Given the description of an element on the screen output the (x, y) to click on. 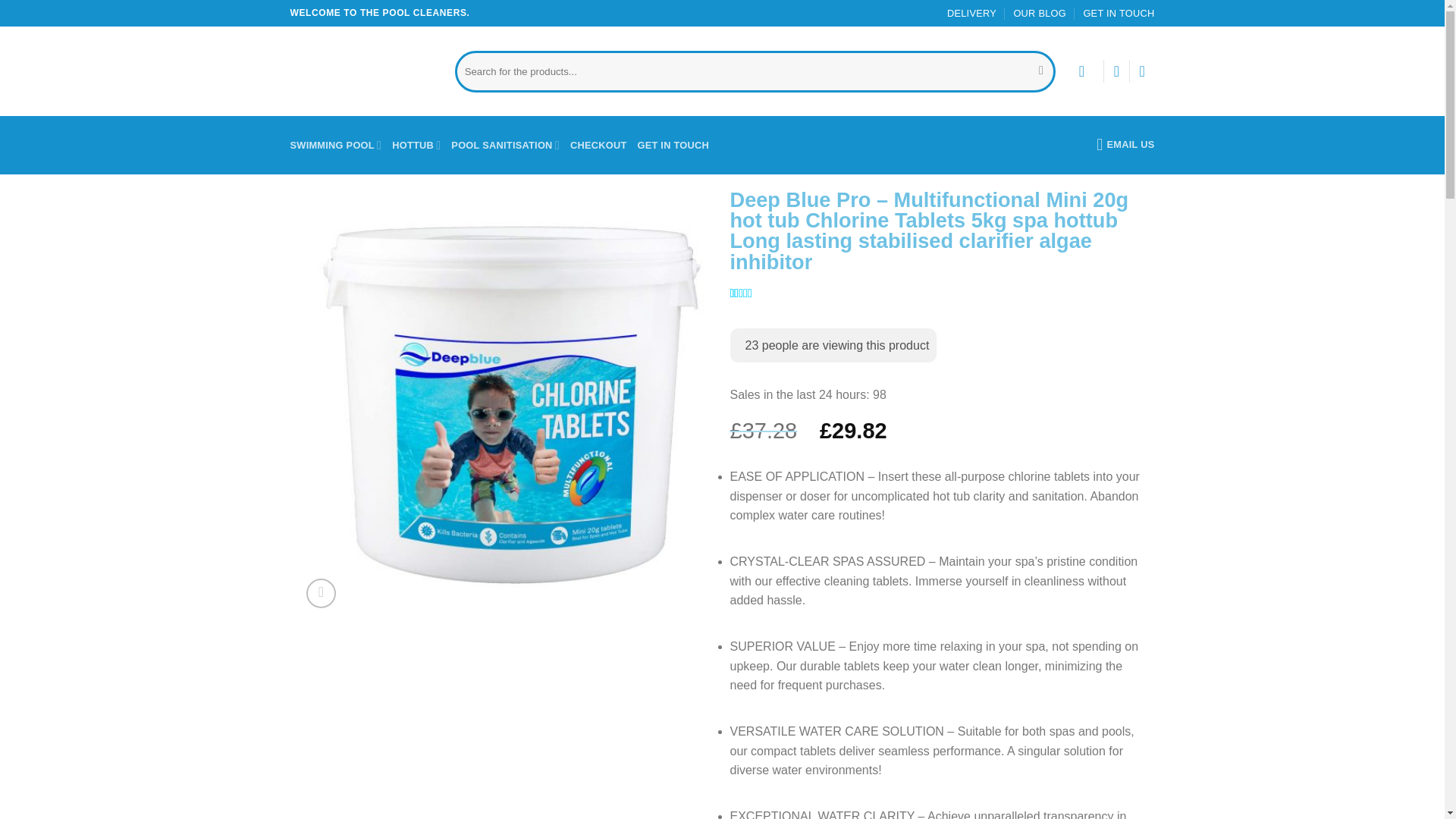
POOL SANITISATION (505, 145)
CHECKOUT (598, 145)
OUR BLOG (1039, 13)
GET IN TOUCH (673, 145)
DELIVERY (971, 13)
Search (1041, 71)
GET IN TOUCH (1118, 13)
SWIMMING POOL (335, 145)
Zoom (320, 593)
